Given the description of an element on the screen output the (x, y) to click on. 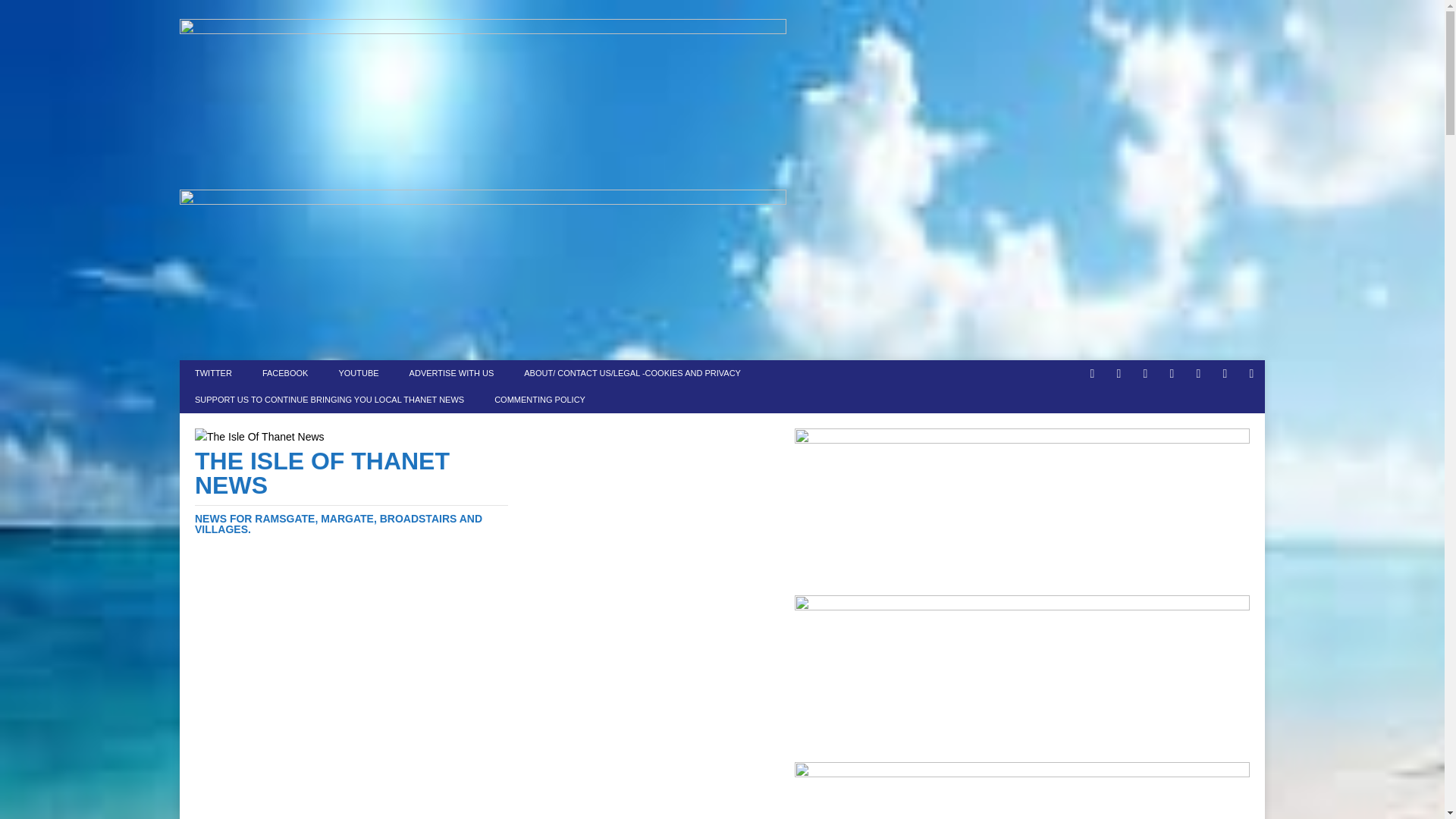
FACEBOOK (285, 373)
SUPPORT US TO CONTINUE BRINGING YOU LOCAL THANET NEWS (329, 399)
ADVERTISE WITH US (451, 373)
TWITTER (213, 373)
The Isle Of Thanet News (351, 491)
COMMENTING POLICY (539, 399)
YOUTUBE (358, 373)
